Given the description of an element on the screen output the (x, y) to click on. 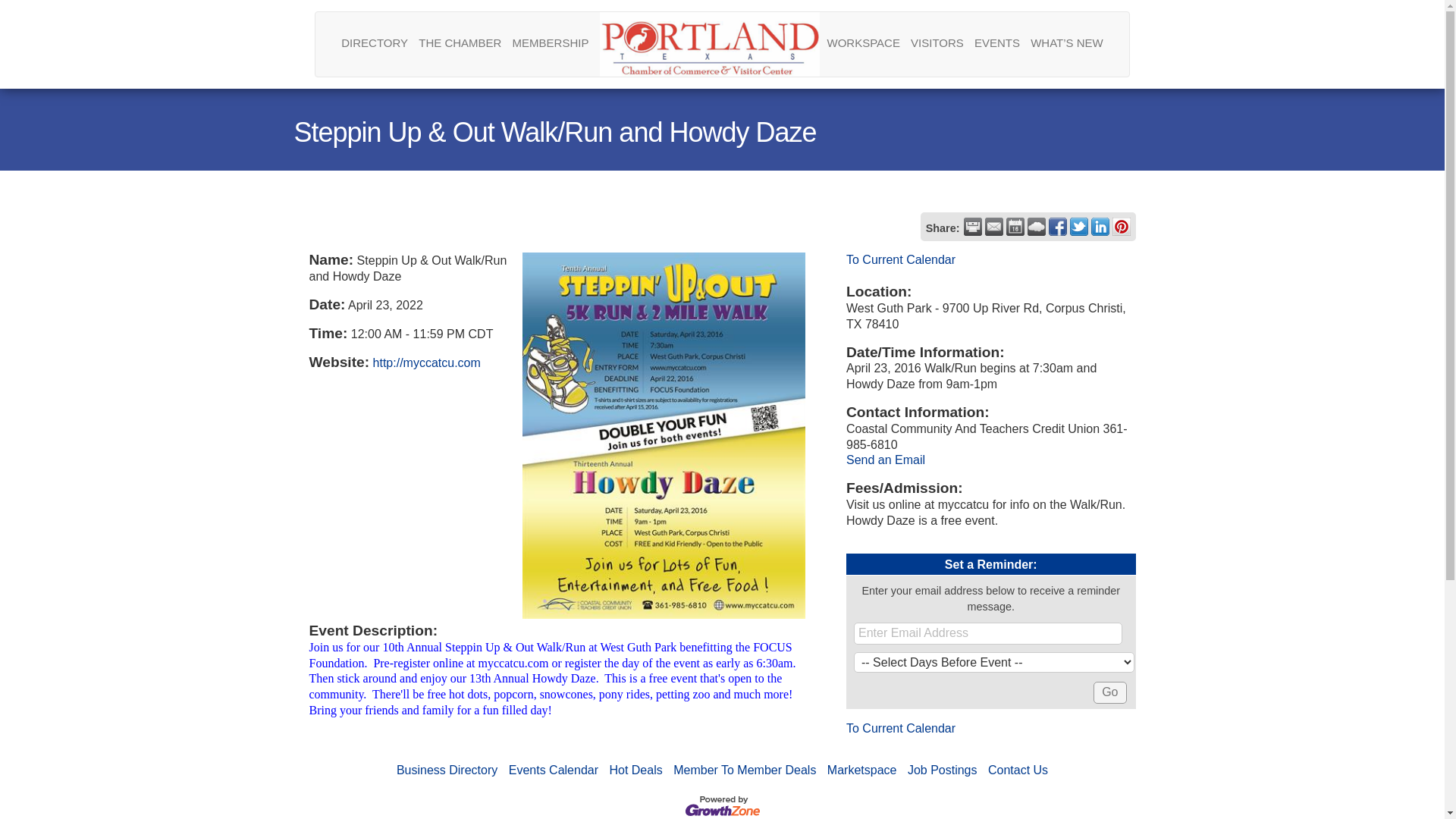
Share on Twitter (1077, 226)
Share on LinkedIn (1099, 226)
MEMBERSHIP (550, 42)
THE CHAMBER (459, 42)
Print this Page (971, 226)
View Current Weather (1035, 226)
Add to Calendar (1014, 226)
Email to a Friend (993, 226)
Share on Facebook (1056, 226)
EVENTS (997, 42)
